Given the description of an element on the screen output the (x, y) to click on. 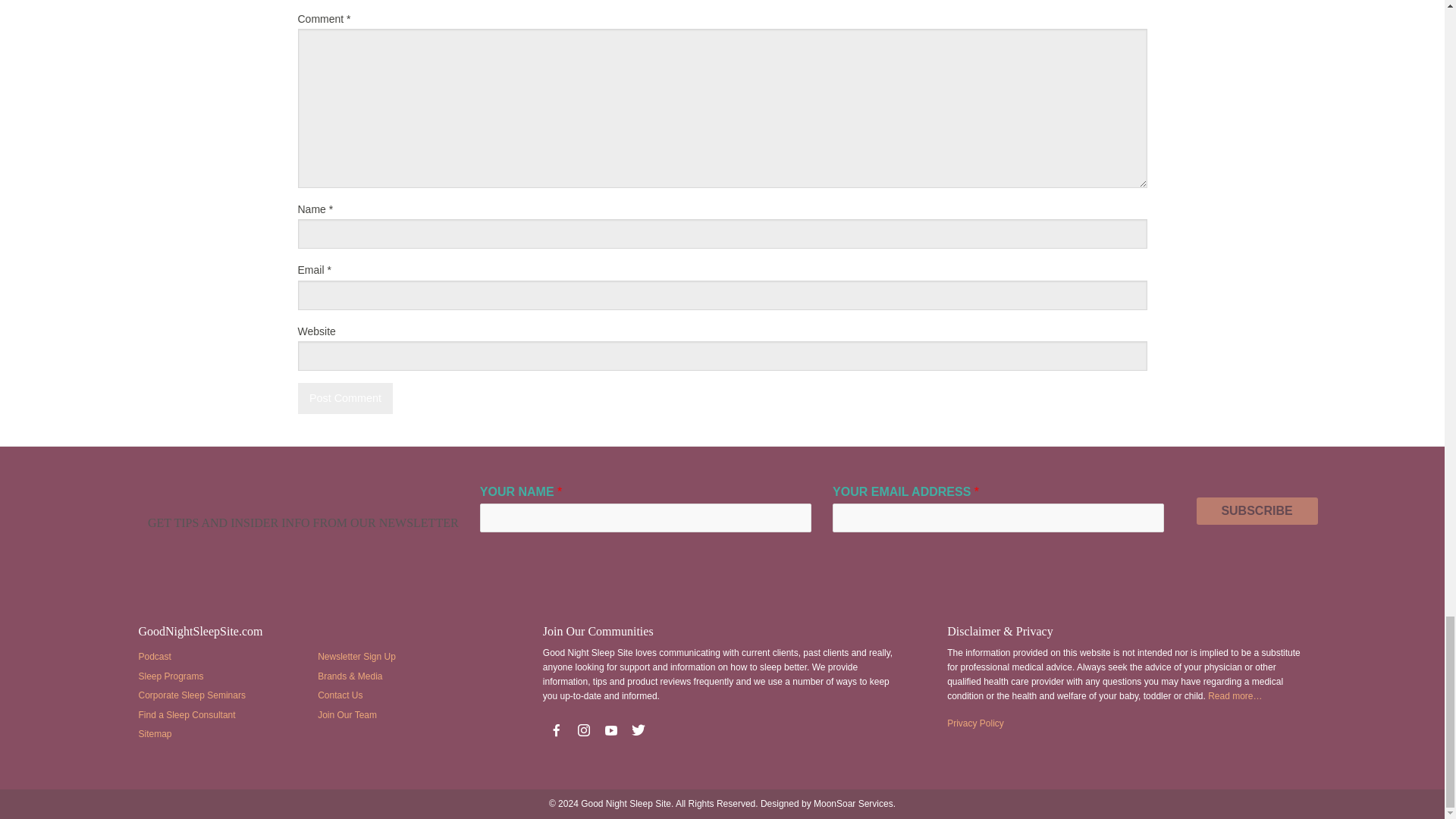
Post Comment (345, 398)
